Given the description of an element on the screen output the (x, y) to click on. 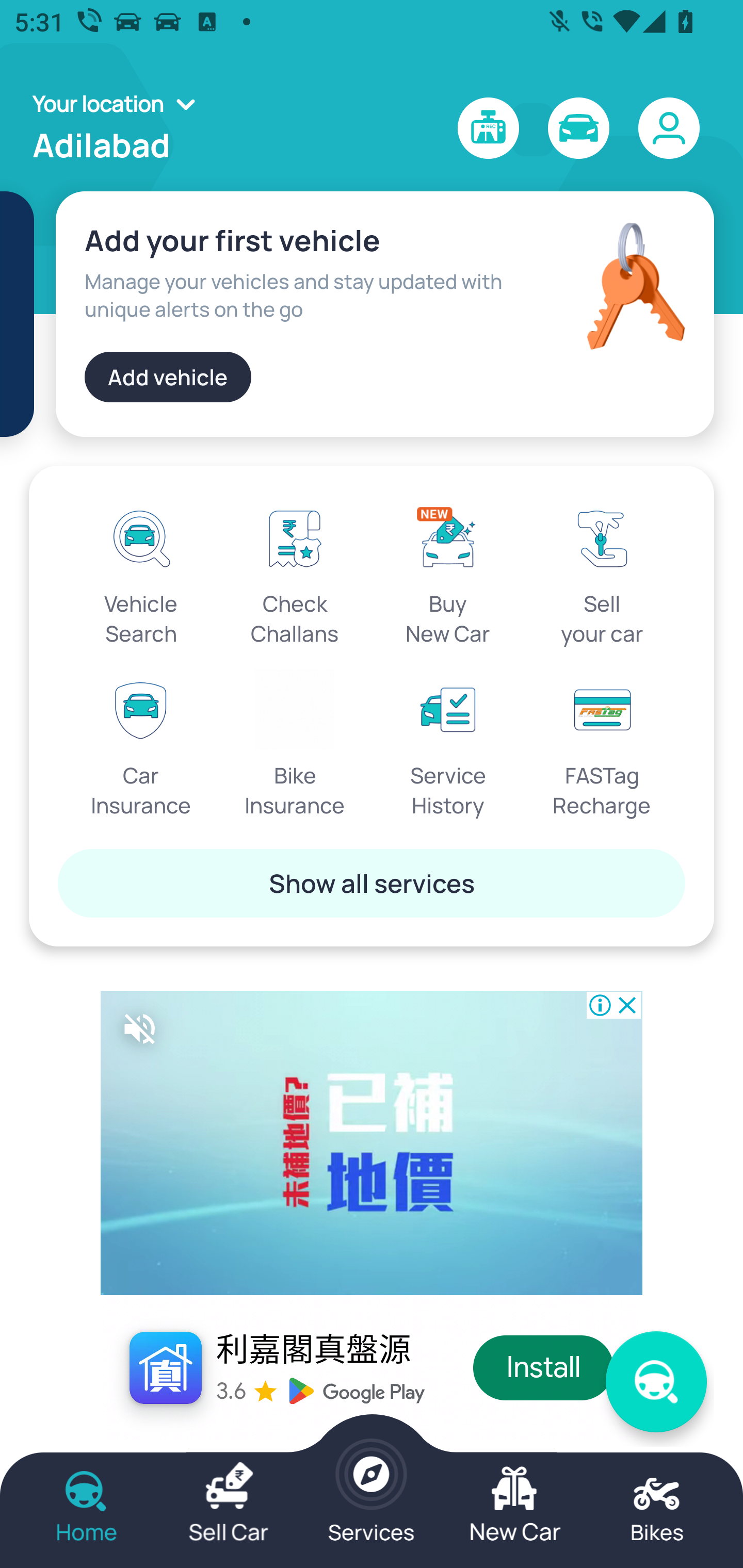
Your location Adilabad (119, 128)
Add vehicle (167, 376)
Vehicle
Search (141, 572)
Check
Challans (294, 572)
Buy
New Car (447, 572)
Sell
your car (601, 572)
Car
Insurance (141, 744)
Bike
Insurance (294, 744)
Service
History (447, 744)
FASTag Recharge (601, 744)
Show all services (371, 882)
Install (543, 1367)
